Given the description of an element on the screen output the (x, y) to click on. 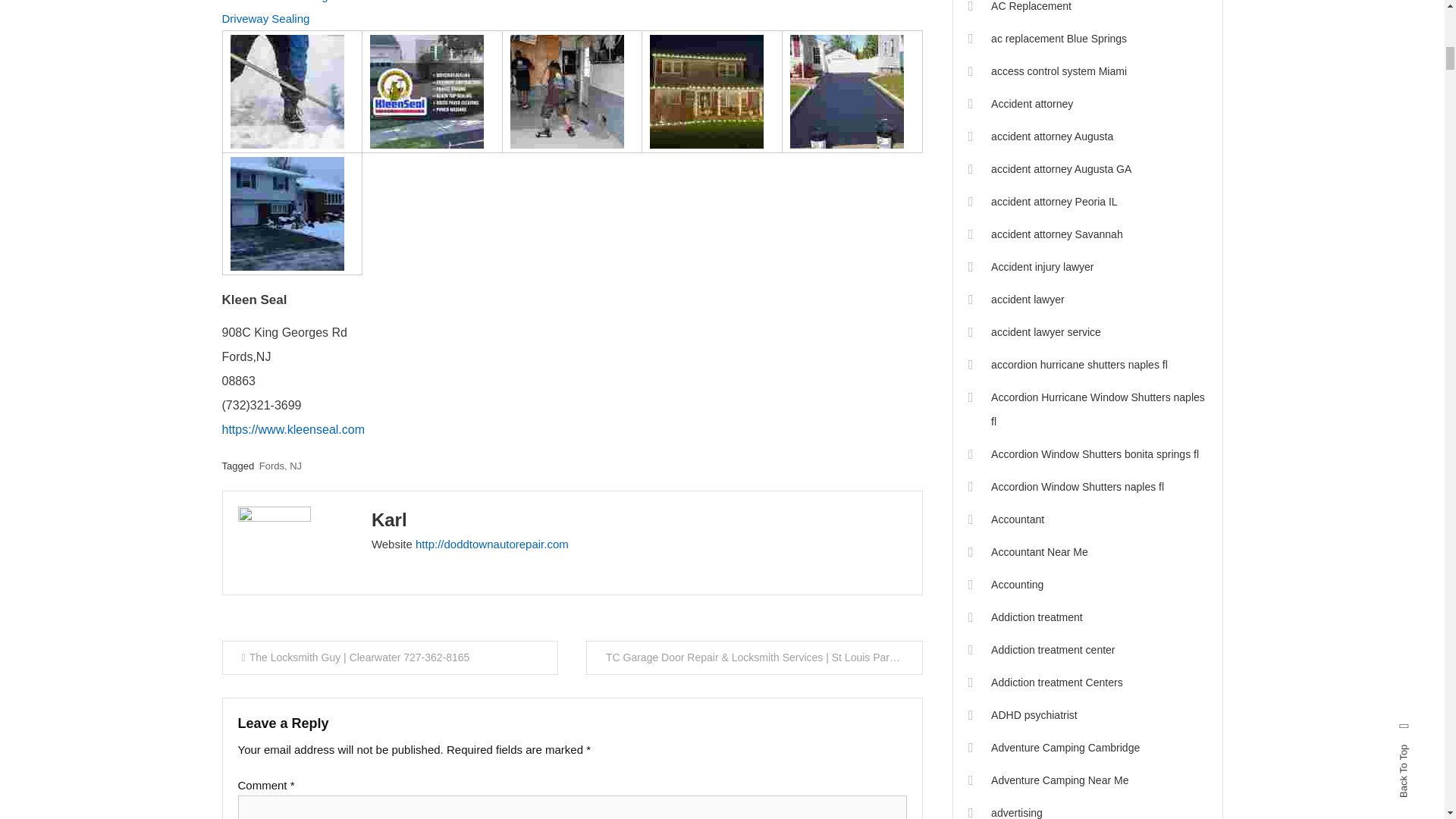
Posts by Karl (389, 519)
